Given the description of an element on the screen output the (x, y) to click on. 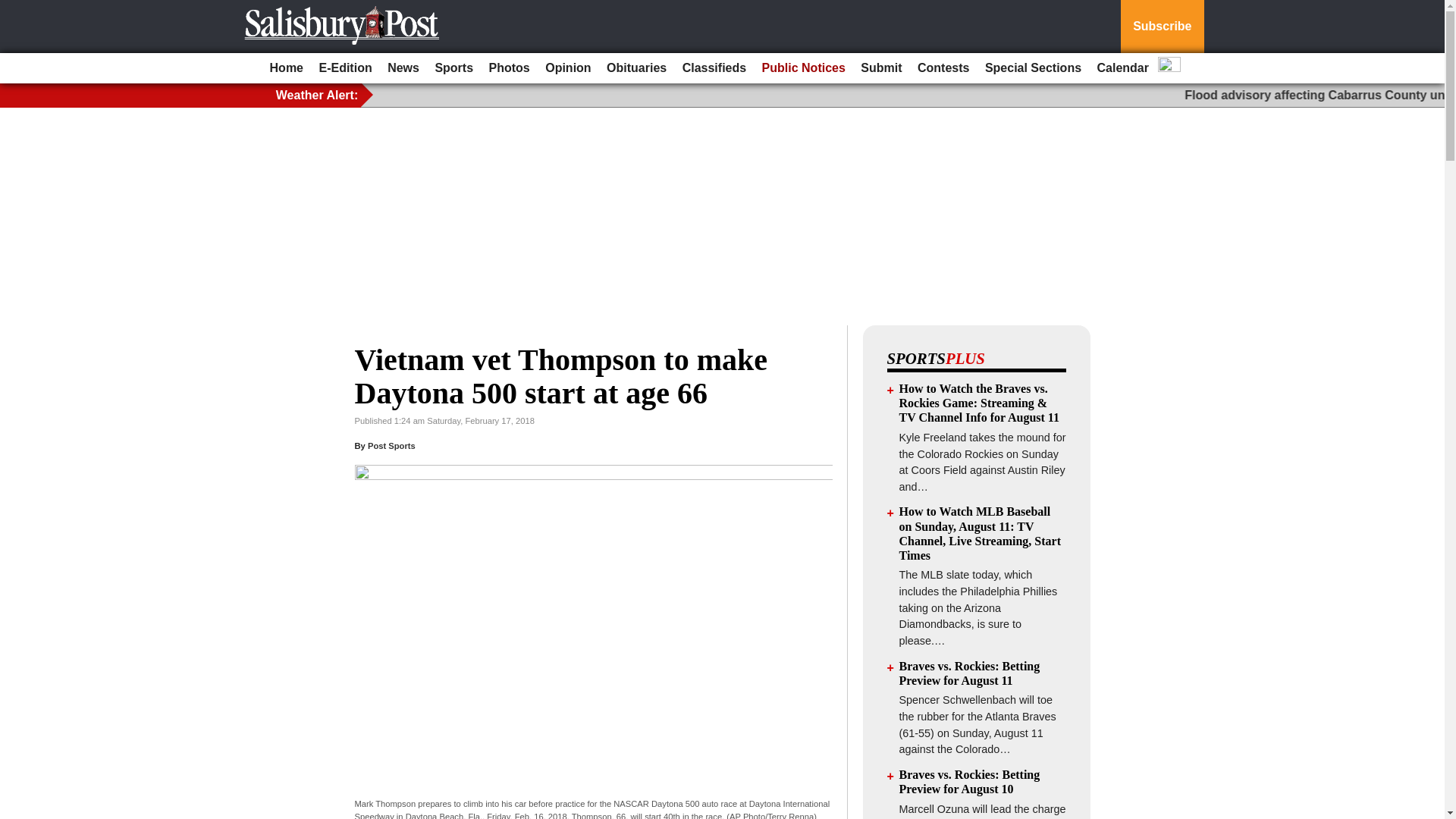
E-Edition (345, 68)
Contests (943, 68)
Sports (453, 68)
Photos (509, 68)
Opinion (567, 68)
Subscribe (1162, 26)
Home (285, 68)
Special Sections (1032, 68)
Obituaries (635, 68)
Submit (880, 68)
